Given the description of an element on the screen output the (x, y) to click on. 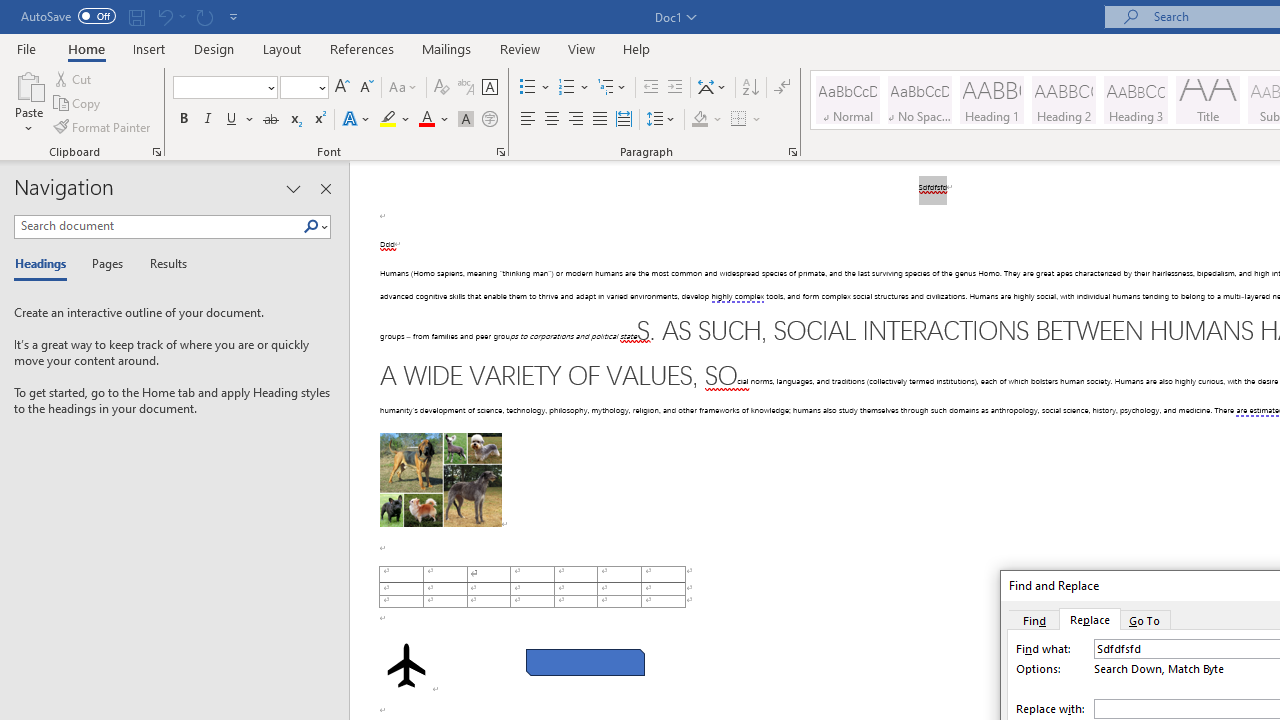
View (582, 48)
Numbering (573, 87)
Insert (149, 48)
Align Right (575, 119)
Multilevel List (613, 87)
Center (552, 119)
Task Pane Options (293, 188)
Quick Access Toolbar (131, 16)
Paste (28, 102)
Shading (706, 119)
Line and Paragraph Spacing (661, 119)
Title (1208, 100)
Align Left (527, 119)
Paste (28, 84)
Font Size (304, 87)
